Given the description of an element on the screen output the (x, y) to click on. 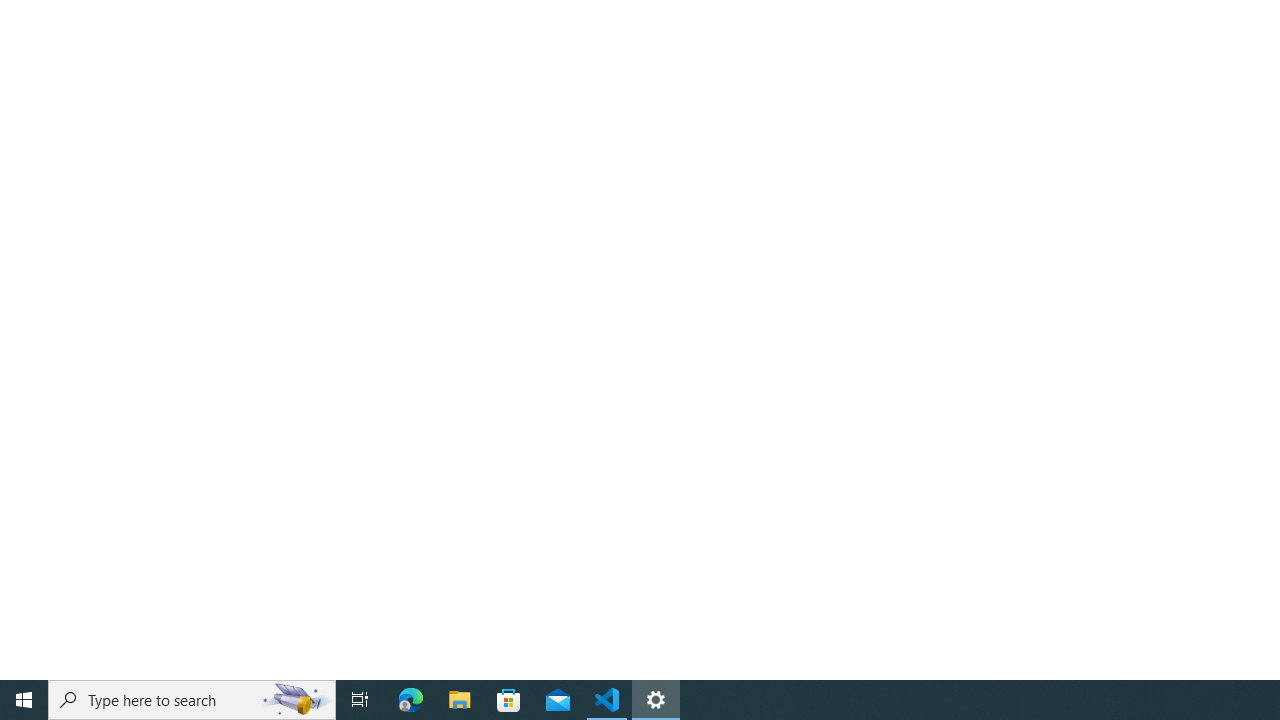
File Explorer (460, 699)
Microsoft Edge (411, 699)
Type here to search (191, 699)
Settings - 1 running window (656, 699)
Visual Studio Code - 1 running window (607, 699)
Search highlights icon opens search home window (295, 699)
Task View (359, 699)
